Given the description of an element on the screen output the (x, y) to click on. 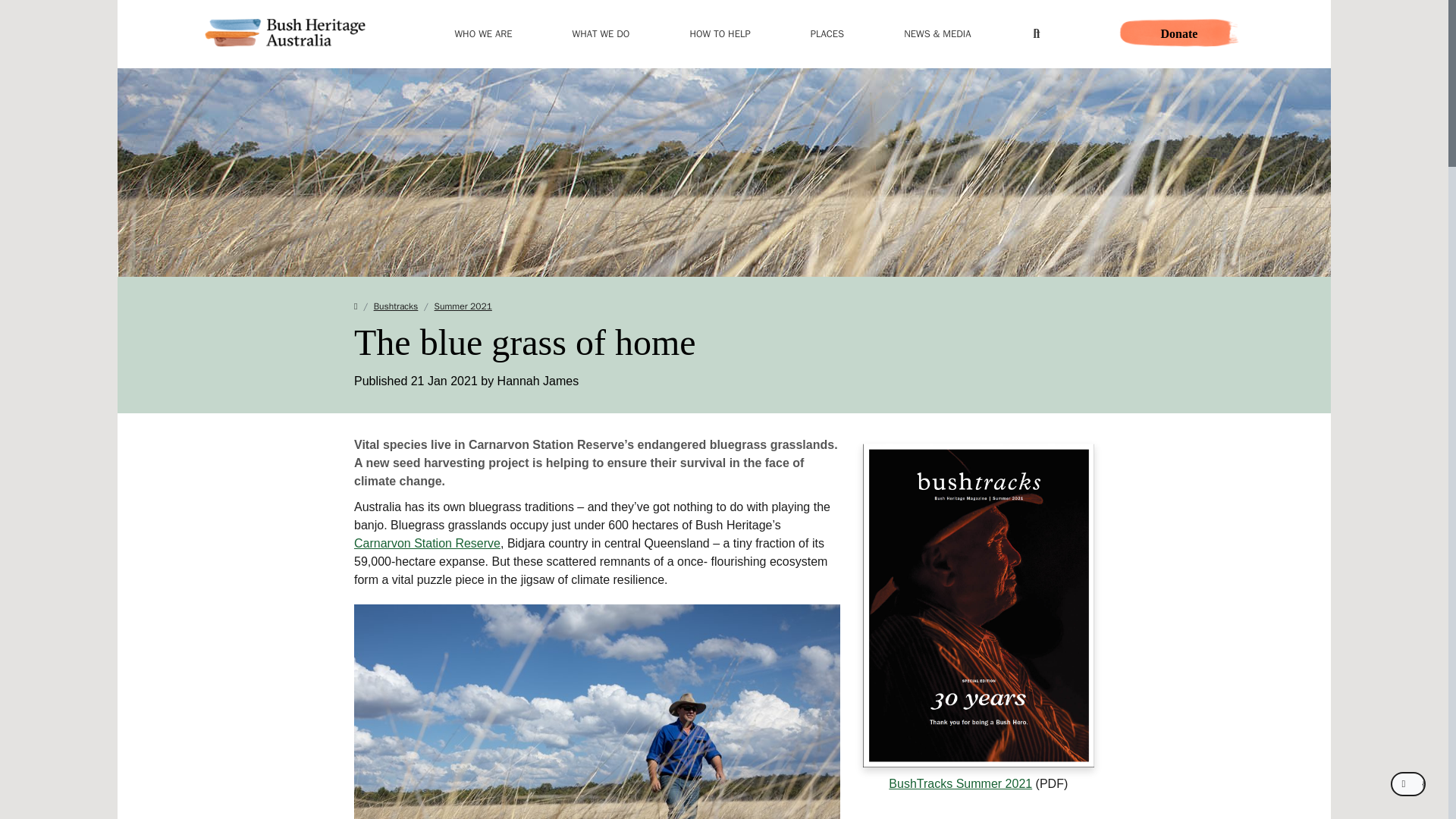
WHAT WE DO (601, 33)
Skip to content (723, 78)
WHO WE ARE (483, 33)
